Given the description of an element on the screen output the (x, y) to click on. 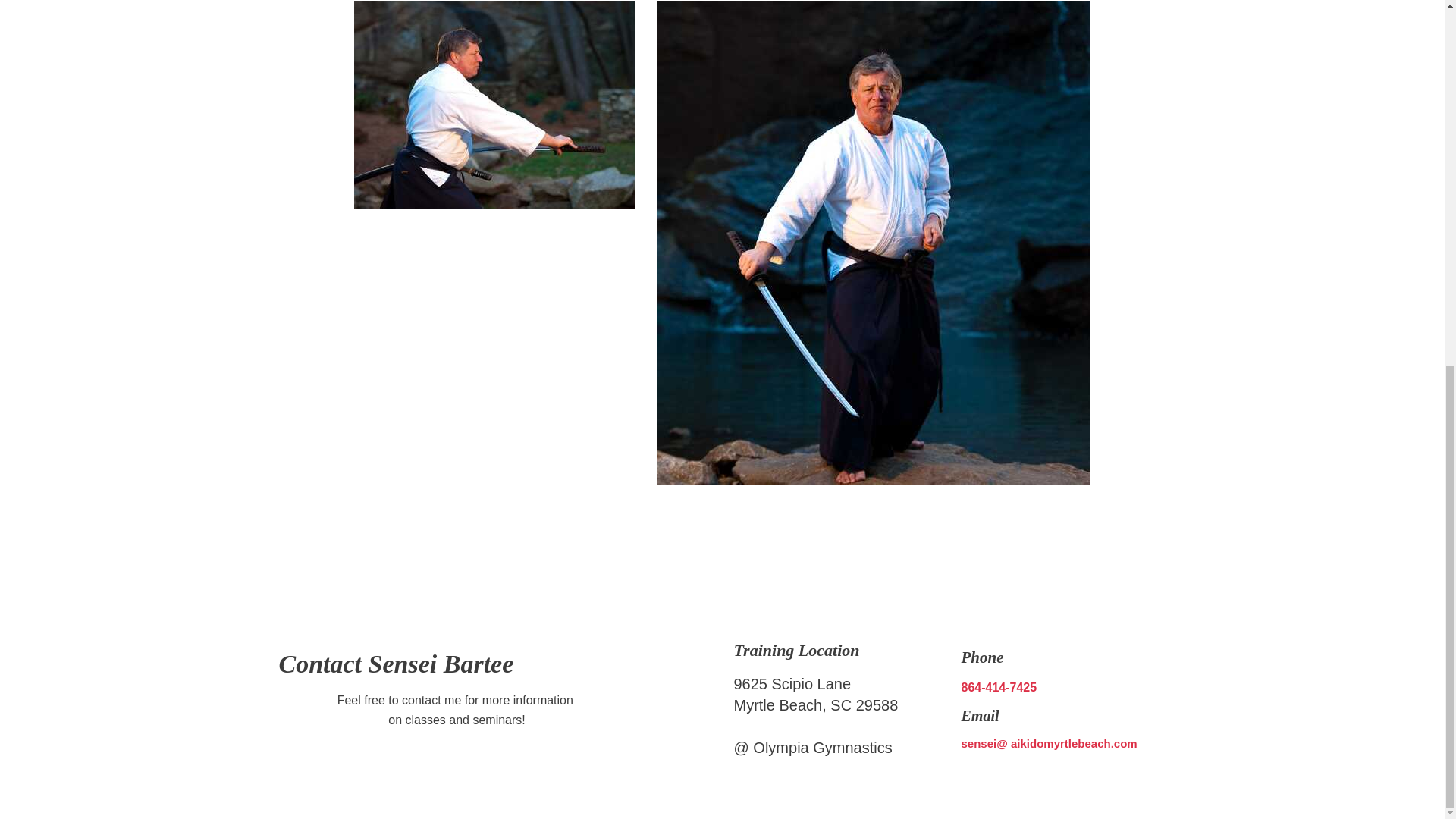
864-414-7425 (998, 687)
